Given the description of an element on the screen output the (x, y) to click on. 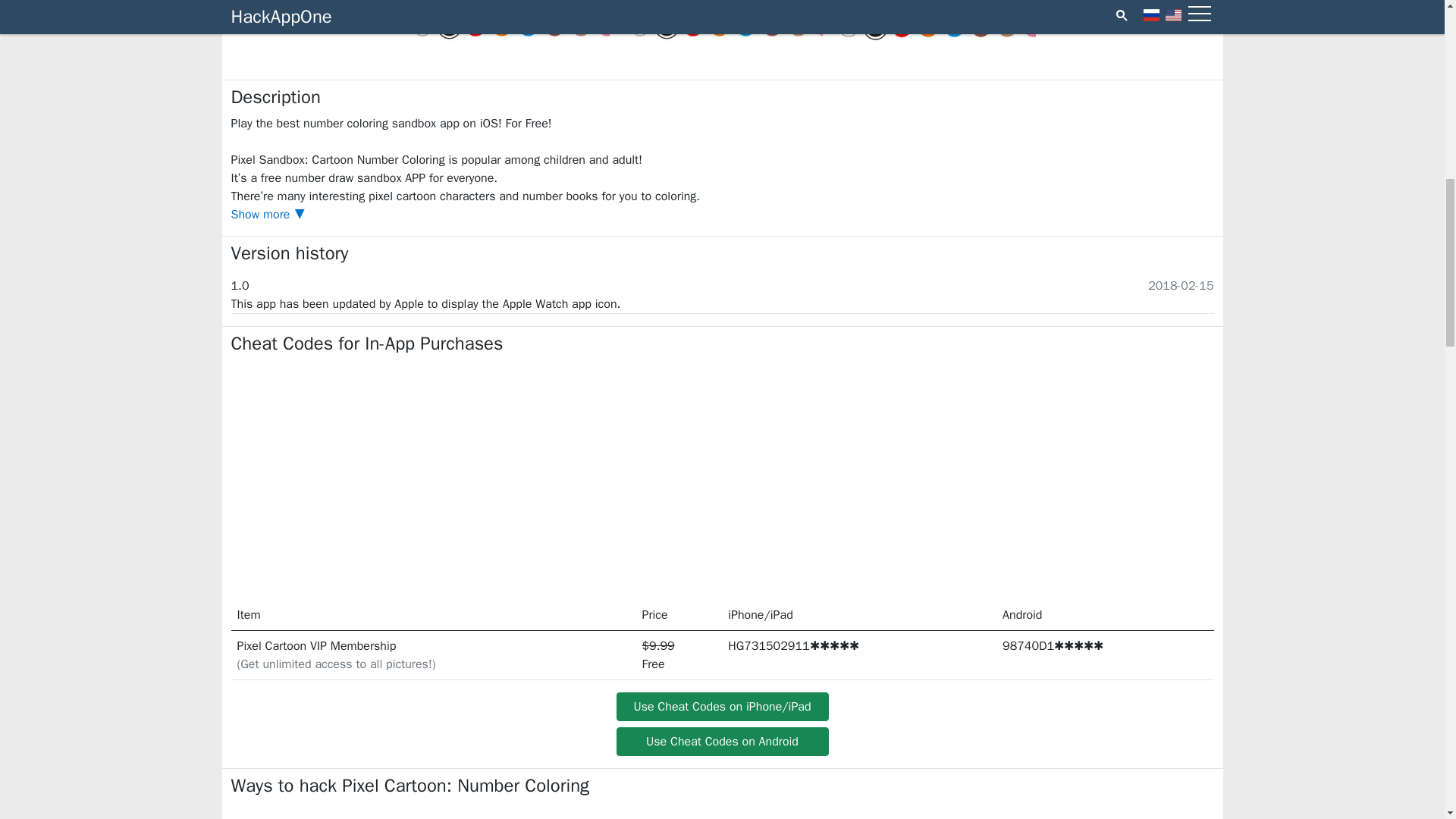
The app Pixel Cartoon: Number Coloring (721, 21)
 Pixel Cartoon: Number Coloring (509, 21)
Use Cheat Codes on Android (721, 741)
Download Pixel Cartoon: Number Coloring (934, 21)
